Given the description of an element on the screen output the (x, y) to click on. 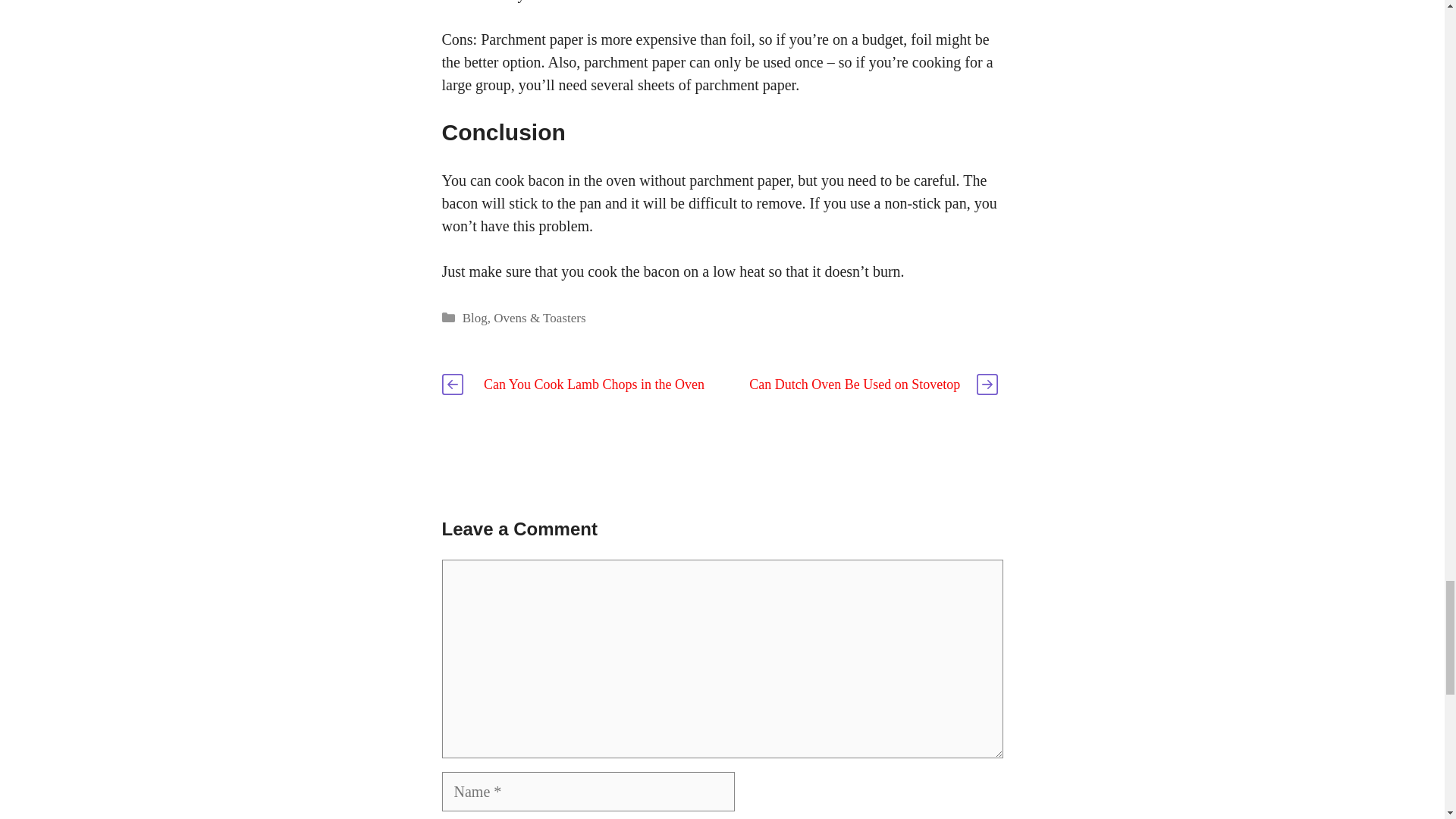
Blog (475, 318)
